Given the description of an element on the screen output the (x, y) to click on. 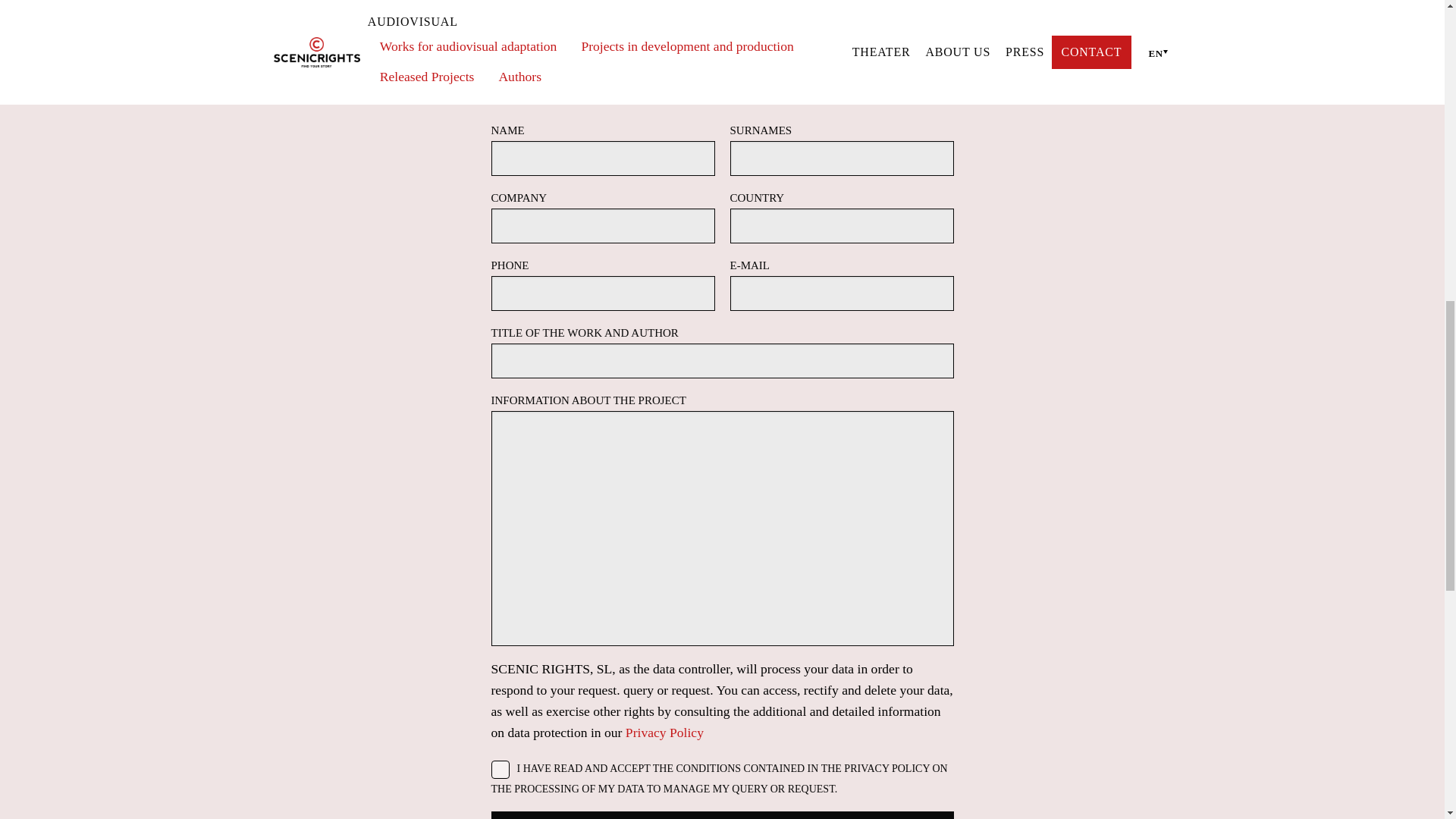
Privacy Policy (664, 732)
Send (722, 815)
Send (722, 815)
